Given the description of an element on the screen output the (x, y) to click on. 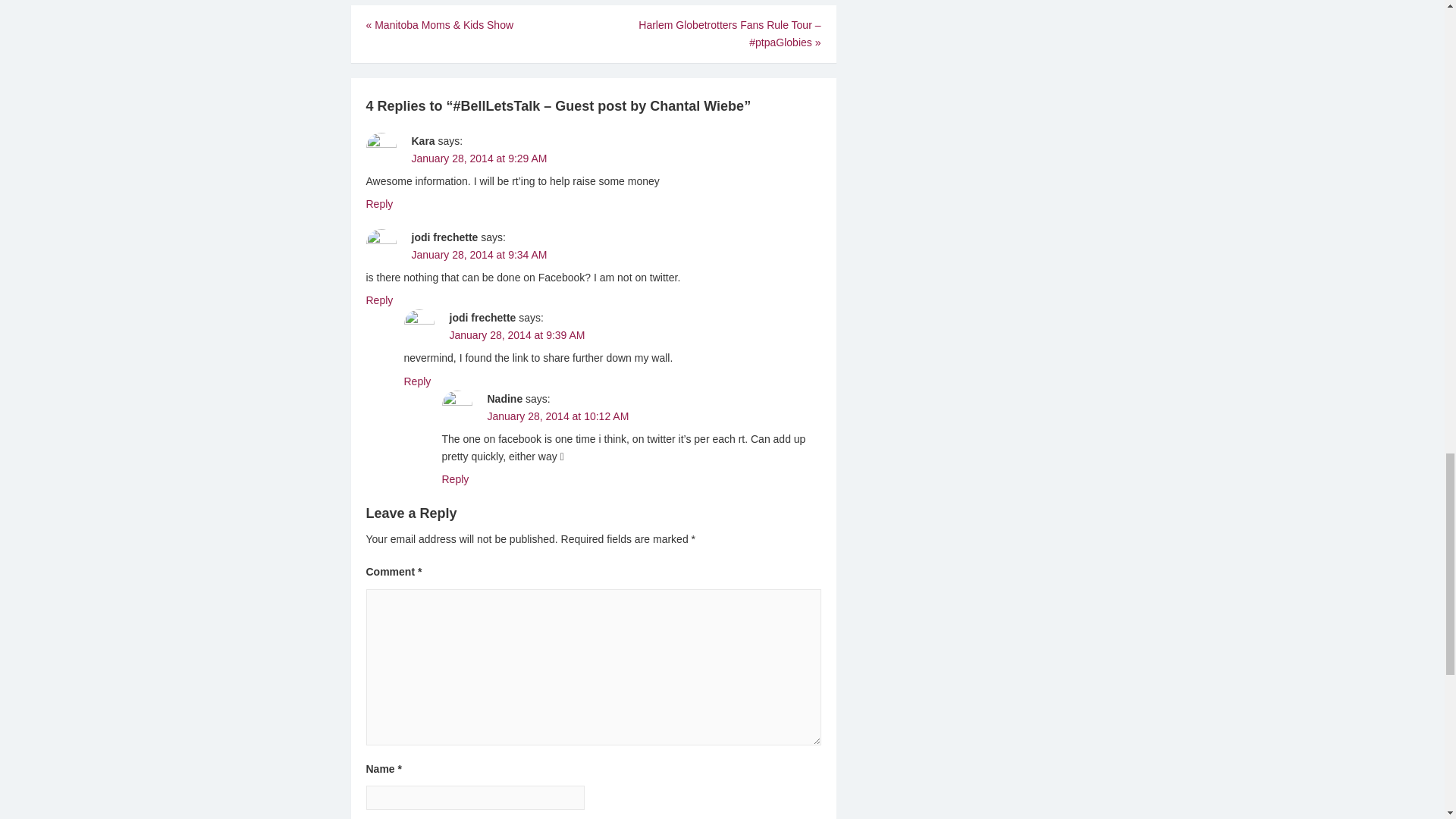
Reply (416, 381)
Reply (379, 300)
January 28, 2014 at 10:12 AM (557, 416)
January 28, 2014 at 9:29 AM (478, 158)
January 28, 2014 at 9:39 AM (516, 335)
Reply (454, 479)
Reply (379, 203)
January 28, 2014 at 9:34 AM (478, 254)
